Given the description of an element on the screen output the (x, y) to click on. 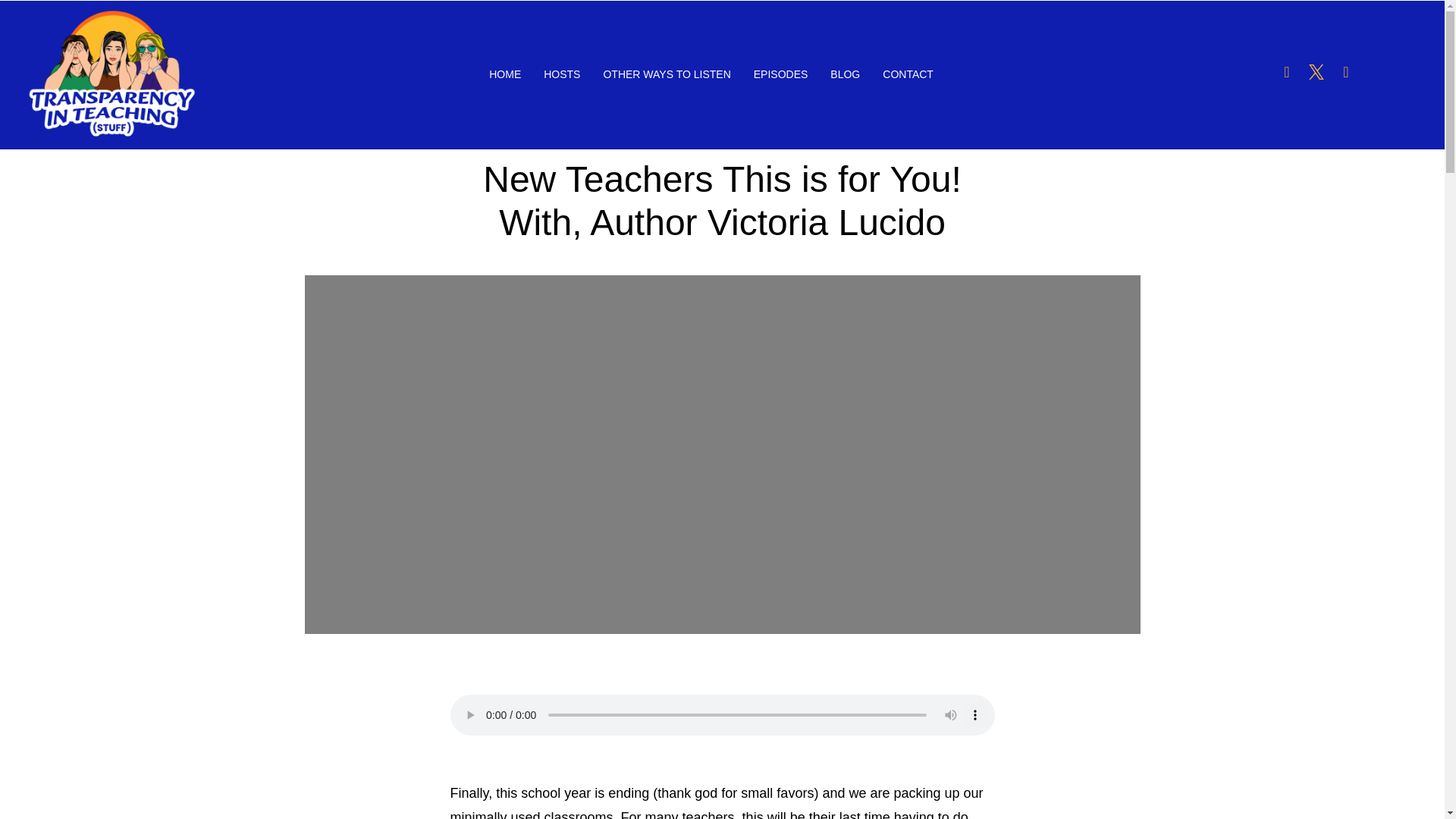
HOSTS (561, 75)
HOME (504, 75)
EPISODES (780, 75)
OTHER WAYS TO LISTEN (666, 75)
CONTACT (907, 75)
